Given the description of an element on the screen output the (x, y) to click on. 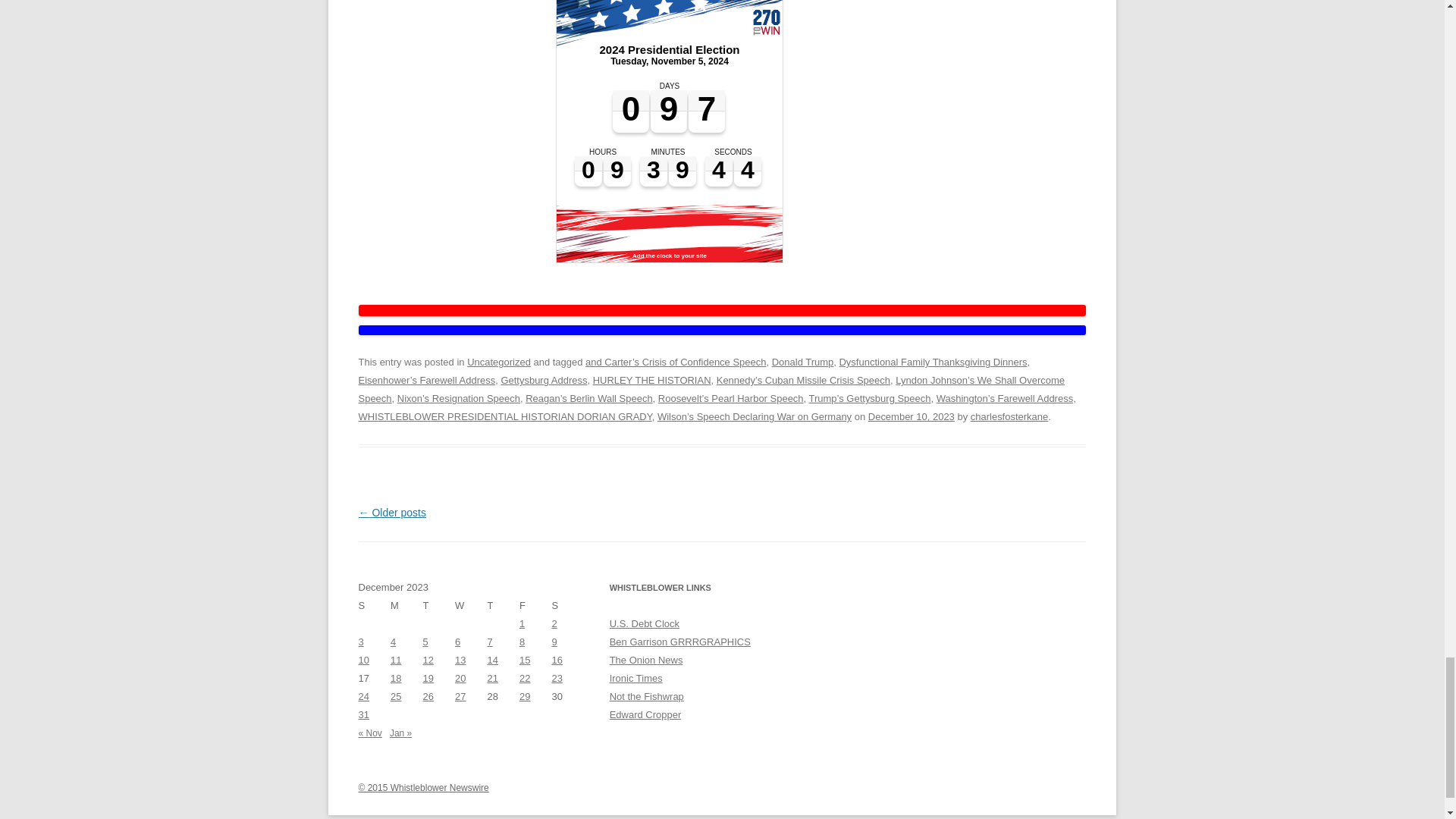
Thursday (502, 606)
View all posts by charlesfosterkane (1009, 416)
11:22 pm (911, 416)
Tuesday (439, 606)
Saturday (568, 606)
Sunday (374, 606)
Friday (535, 606)
Monday (406, 606)
Current amount owed (644, 623)
Wednesday (470, 606)
